Given the description of an element on the screen output the (x, y) to click on. 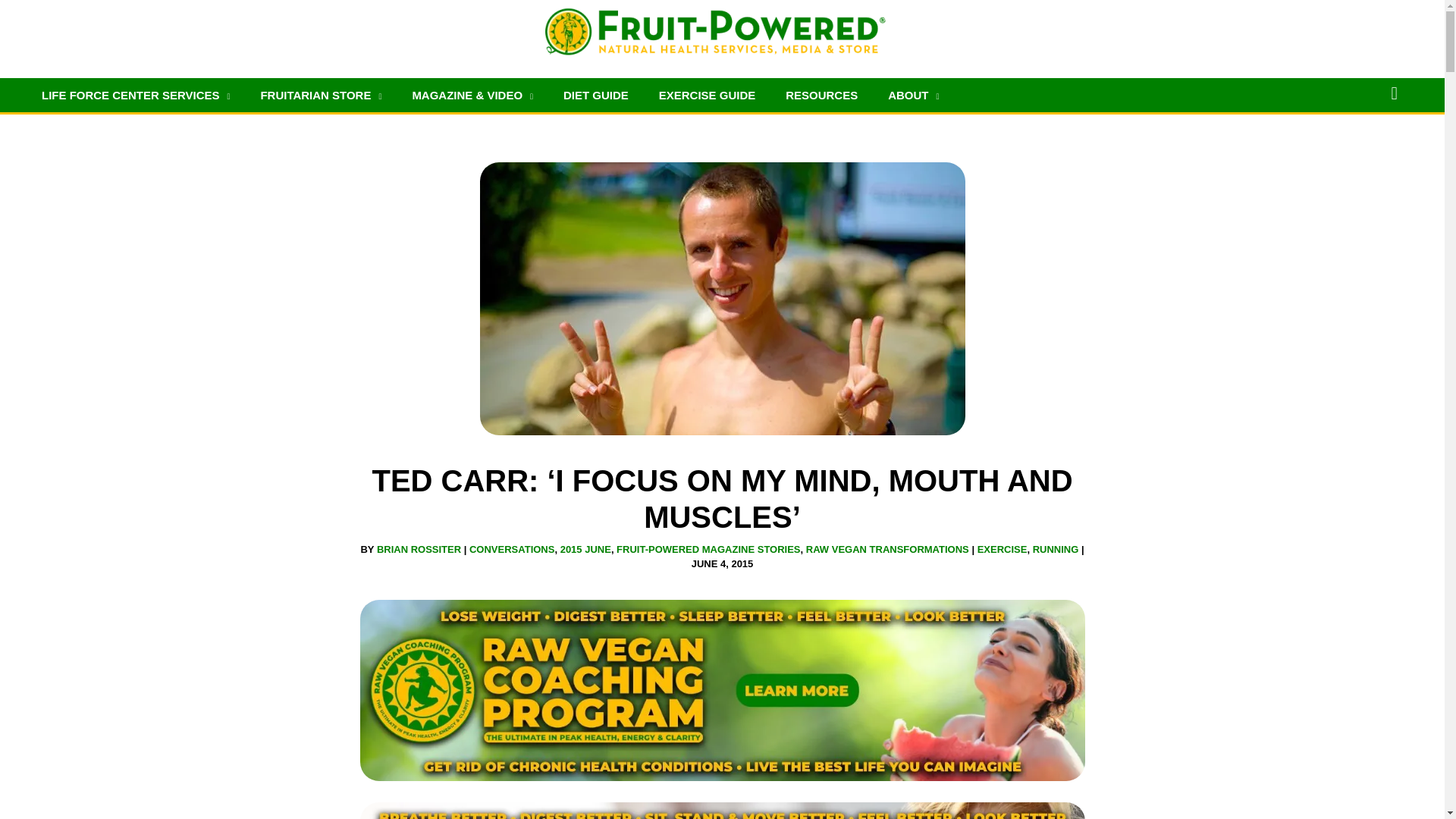
View all posts by Brian Rossiter (420, 549)
